Given the description of an element on the screen output the (x, y) to click on. 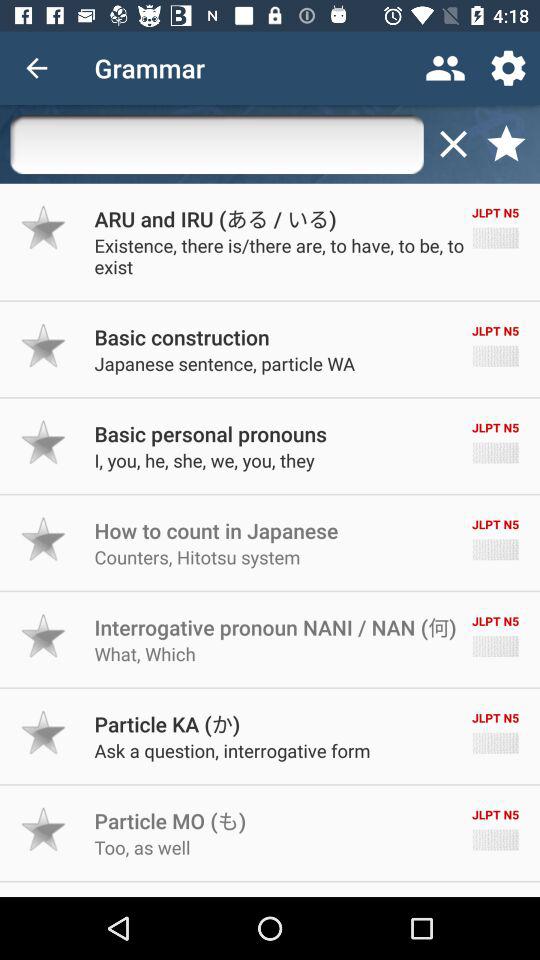
press ask a question (232, 750)
